Given the description of an element on the screen output the (x, y) to click on. 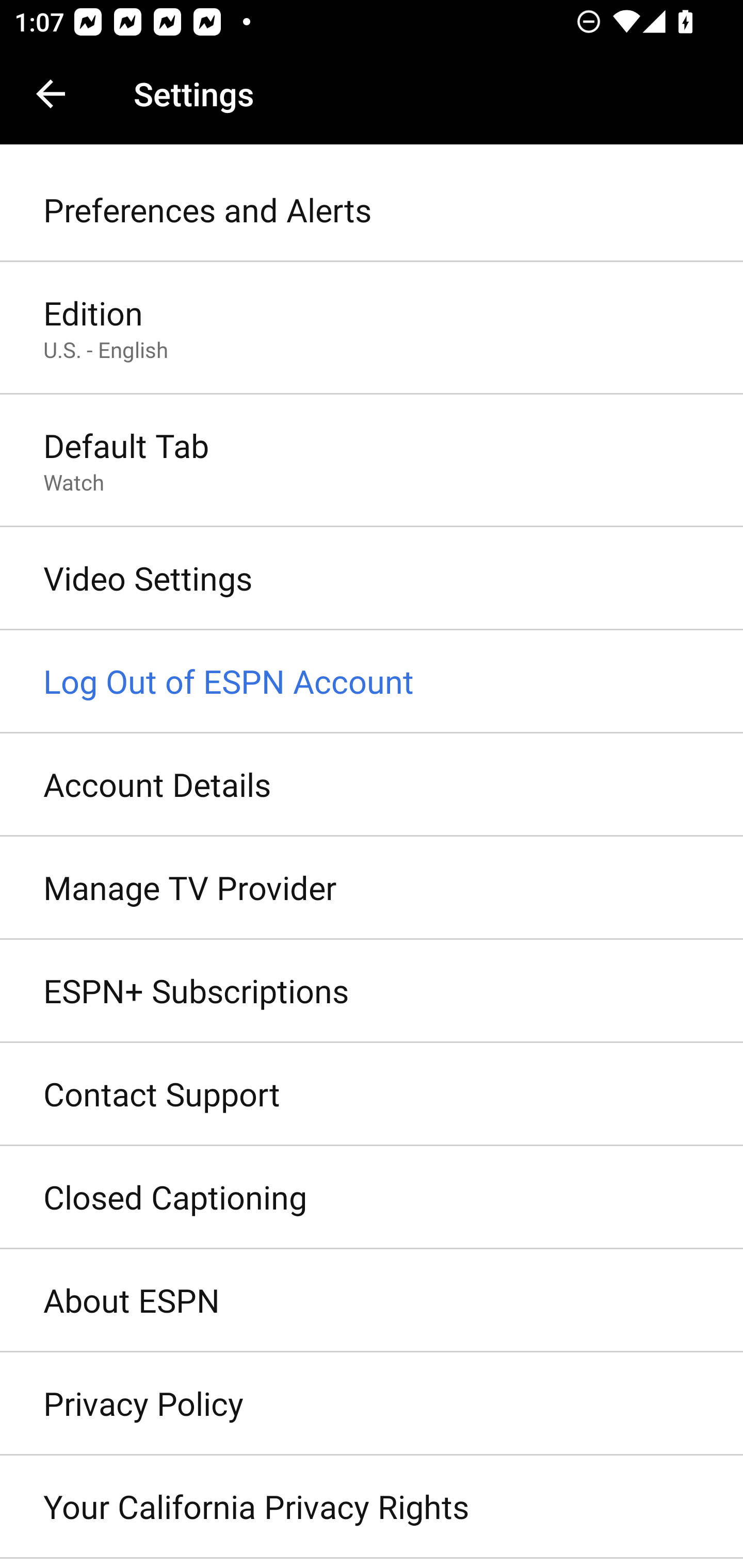
Navigate up (50, 93)
Preferences and Alerts (371, 209)
Edition U.S. - English (371, 328)
Default Tab Watch (371, 461)
Video Settings (371, 578)
Log Out of ESPN Account (371, 681)
Account Details (371, 785)
Manage TV Provider (371, 888)
ESPN+ Subscriptions (371, 990)
Contact Support (371, 1094)
Closed Captioning (371, 1197)
About ESPN (371, 1301)
Privacy Policy (371, 1403)
Your California Privacy Rights (371, 1506)
